Given the description of an element on the screen output the (x, y) to click on. 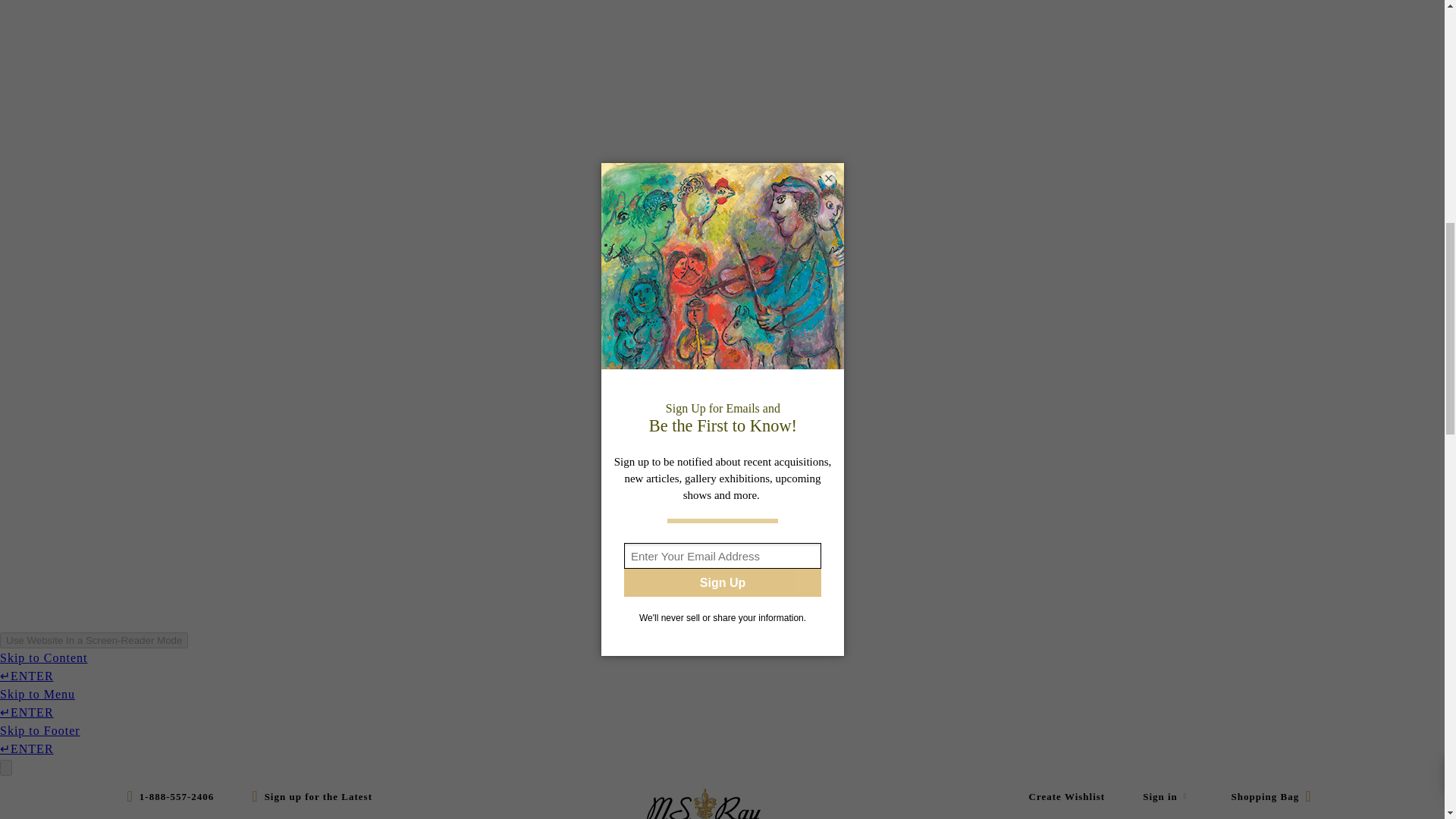
Sign in (1164, 796)
Create Wishlist main (1076, 796)
Shopping Bag (1261, 795)
cart (1261, 795)
Create Wishlist (1076, 796)
account (1164, 796)
Sign up for the Latest (305, 795)
M.S. Rau (703, 803)
Call Us (180, 795)
1-888-557-2406 (180, 795)
